Given the description of an element on the screen output the (x, y) to click on. 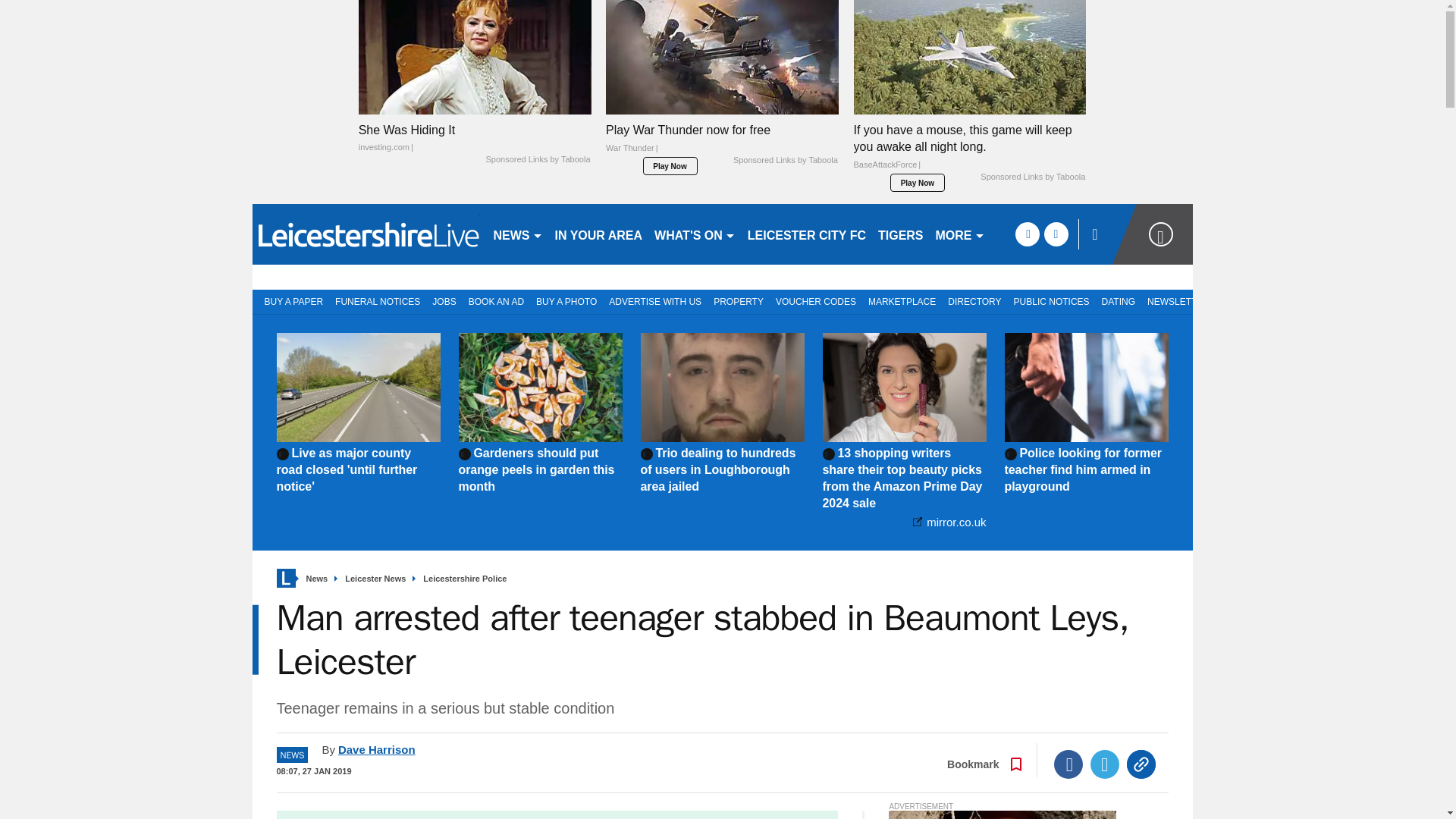
Play War Thunder now for free (721, 57)
Play War Thunder now for free (721, 143)
Sponsored Links by Taboola (1031, 176)
Play Now (670, 166)
She Was Hiding It (474, 57)
She Was Hiding It (474, 138)
Twitter (1104, 764)
Facebook (1068, 764)
twitter (1055, 233)
Play Now (916, 182)
Sponsored Links by Taboola (536, 159)
leicestermercury (365, 233)
facebook (1026, 233)
